Given the description of an element on the screen output the (x, y) to click on. 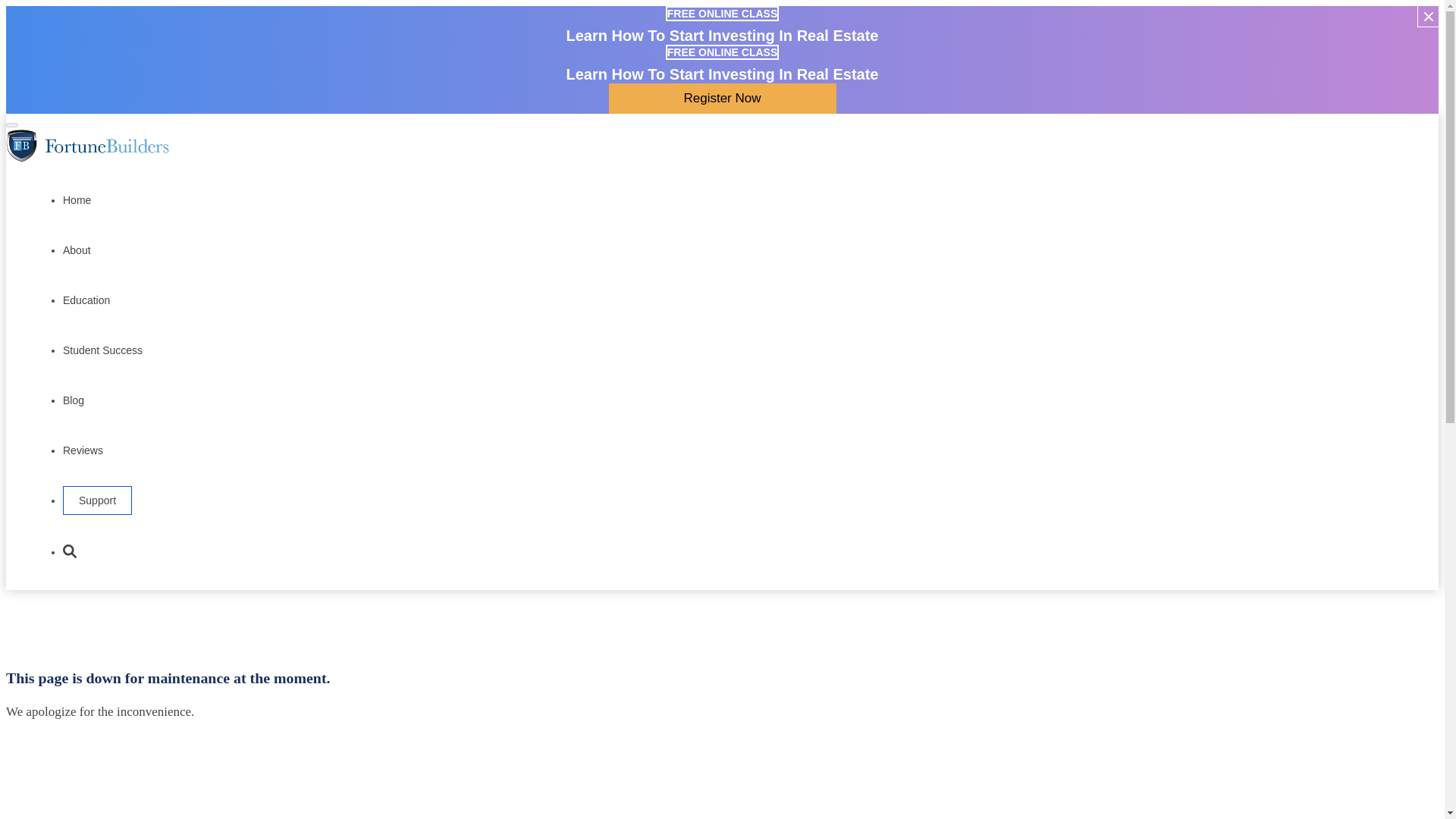
Support (97, 500)
Blog (73, 398)
Reviews (82, 448)
Register Now (721, 98)
Education (86, 298)
About (76, 248)
Home (76, 197)
FREE ONLINE CLASS (721, 51)
Student Success (102, 348)
FREE ONLINE CLASS (721, 12)
